Given the description of an element on the screen output the (x, y) to click on. 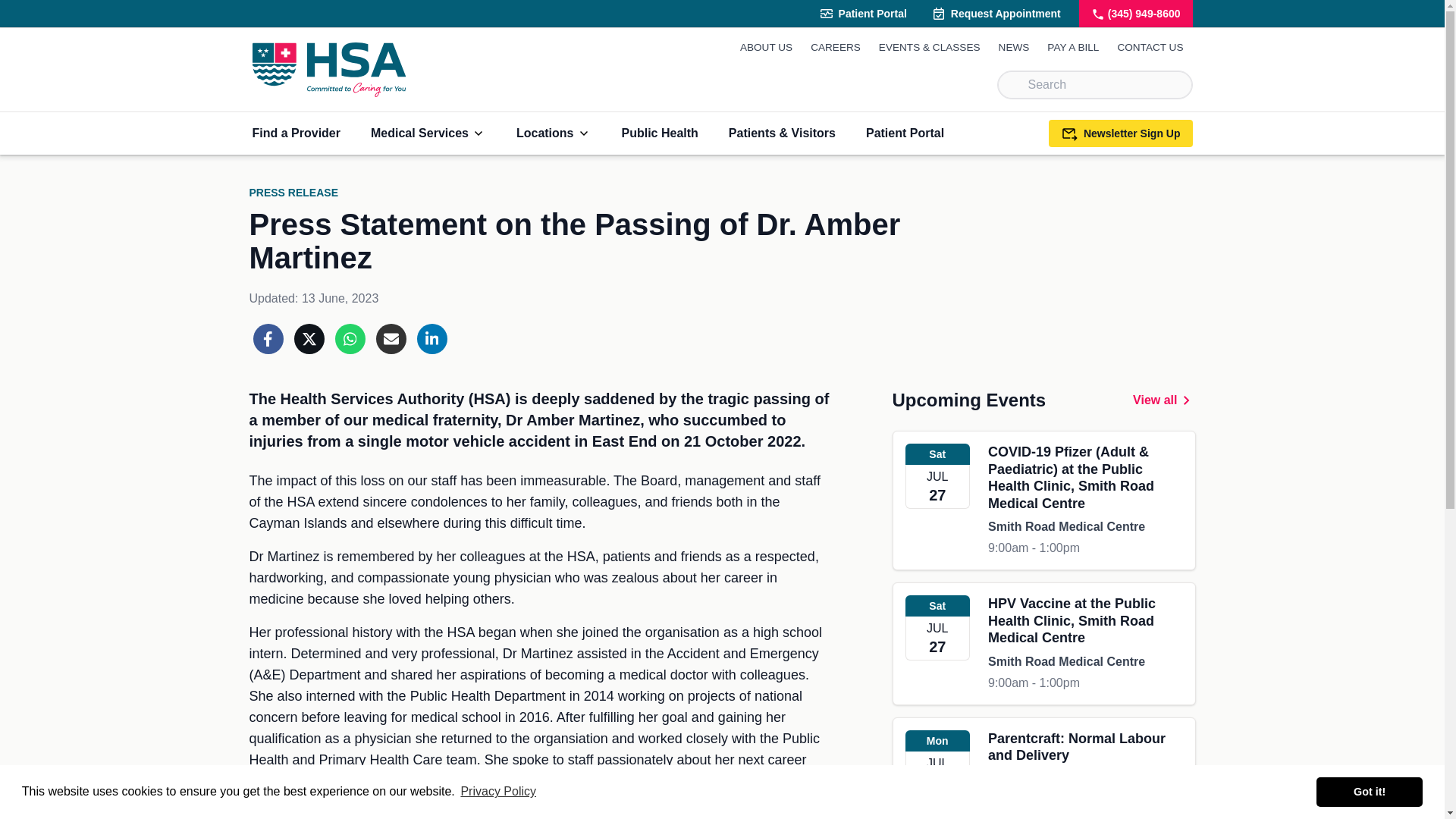
NEWS (1013, 47)
Locations (553, 133)
PAY A BILL (1072, 47)
Got it! (1369, 791)
Request Appointment (995, 13)
Patient Portal (862, 13)
Privacy Policy (498, 791)
CONTACT US (1149, 47)
ABOUT US (765, 47)
Medical Services (428, 133)
Find a Provider (295, 133)
CAREERS (835, 47)
